Given the description of an element on the screen output the (x, y) to click on. 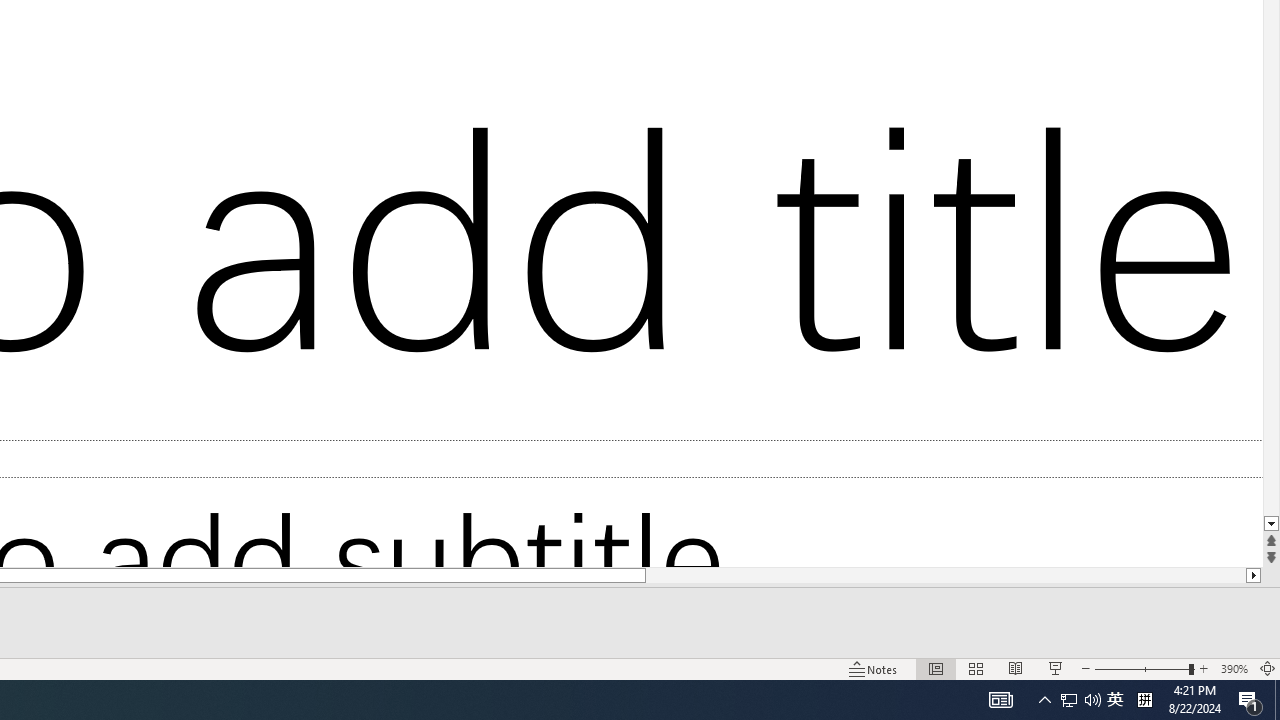
Zoom 390% (1234, 668)
